Given the description of an element on the screen output the (x, y) to click on. 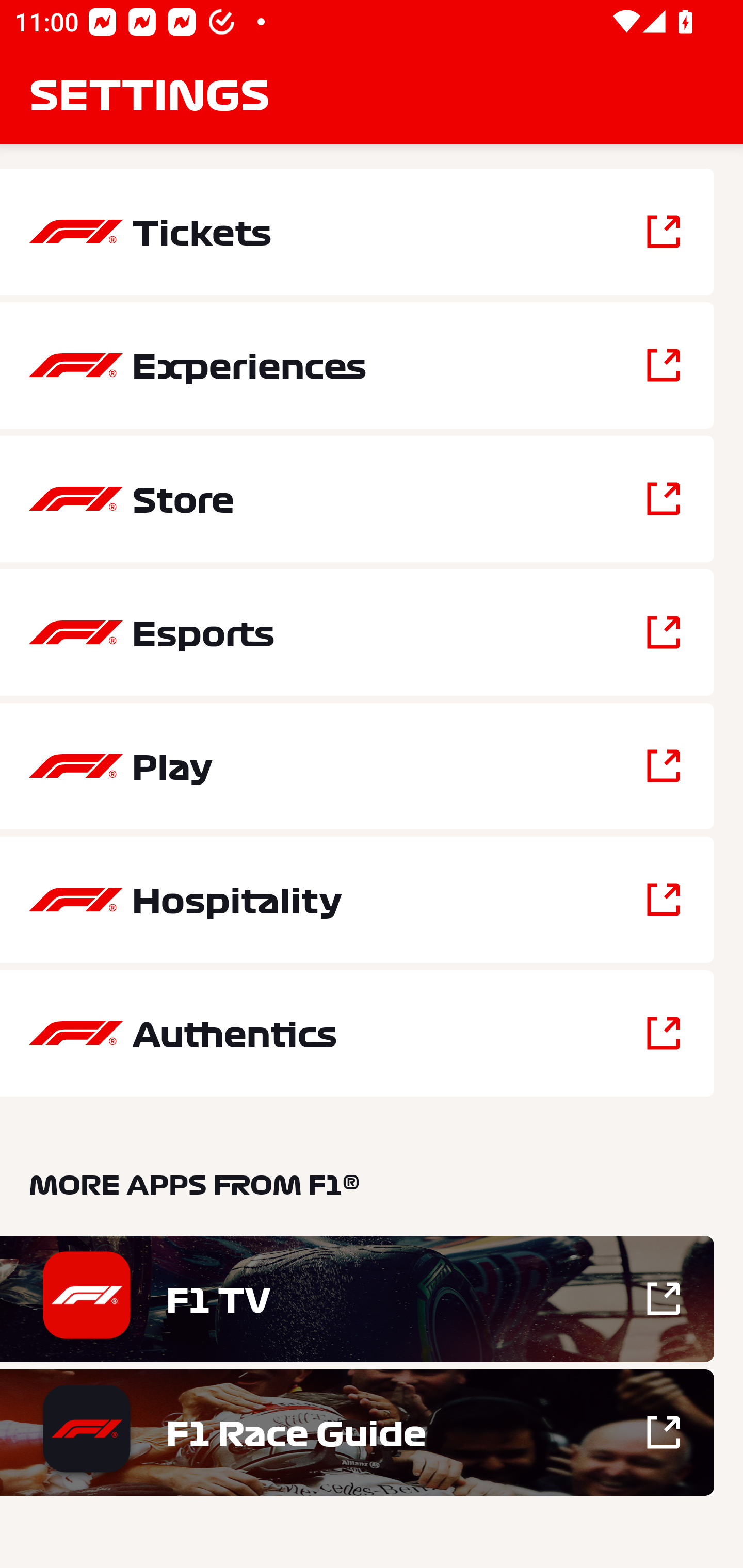
Tickets (357, 231)
Experiences (357, 365)
Store (357, 498)
Esports (357, 632)
Play (357, 765)
Hospitality (357, 899)
Authentics (357, 1033)
F1 TV (357, 1298)
F1 Race Guide (357, 1431)
